Given the description of an element on the screen output the (x, y) to click on. 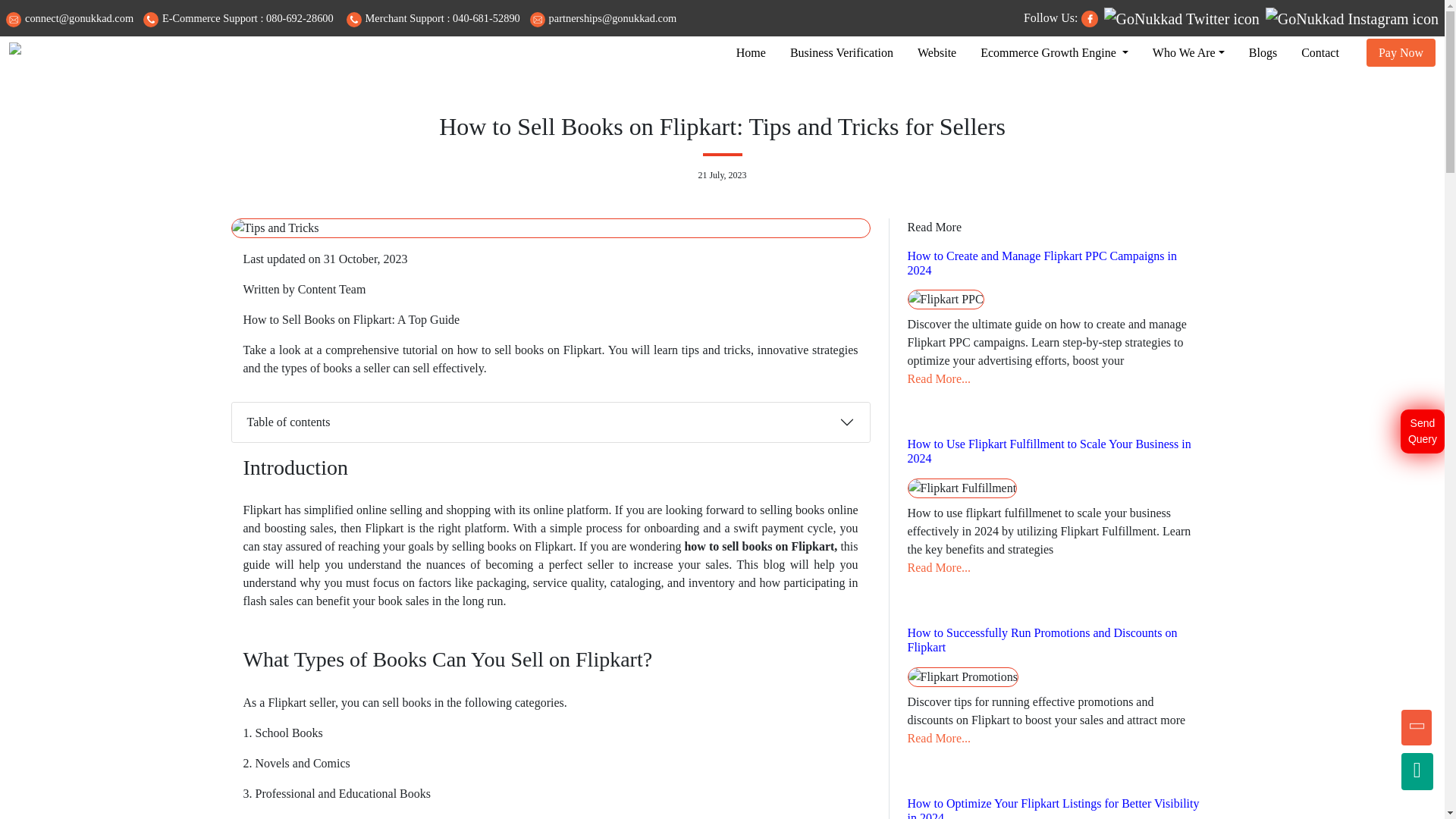
Merchant Support : 040-681-52890 (432, 18)
Business Verification (841, 52)
E-Commerce Support : 080-692-28600 (238, 18)
Home (750, 52)
Website (936, 52)
Ecommerce Growth Engine (1054, 52)
